Given the description of an element on the screen output the (x, y) to click on. 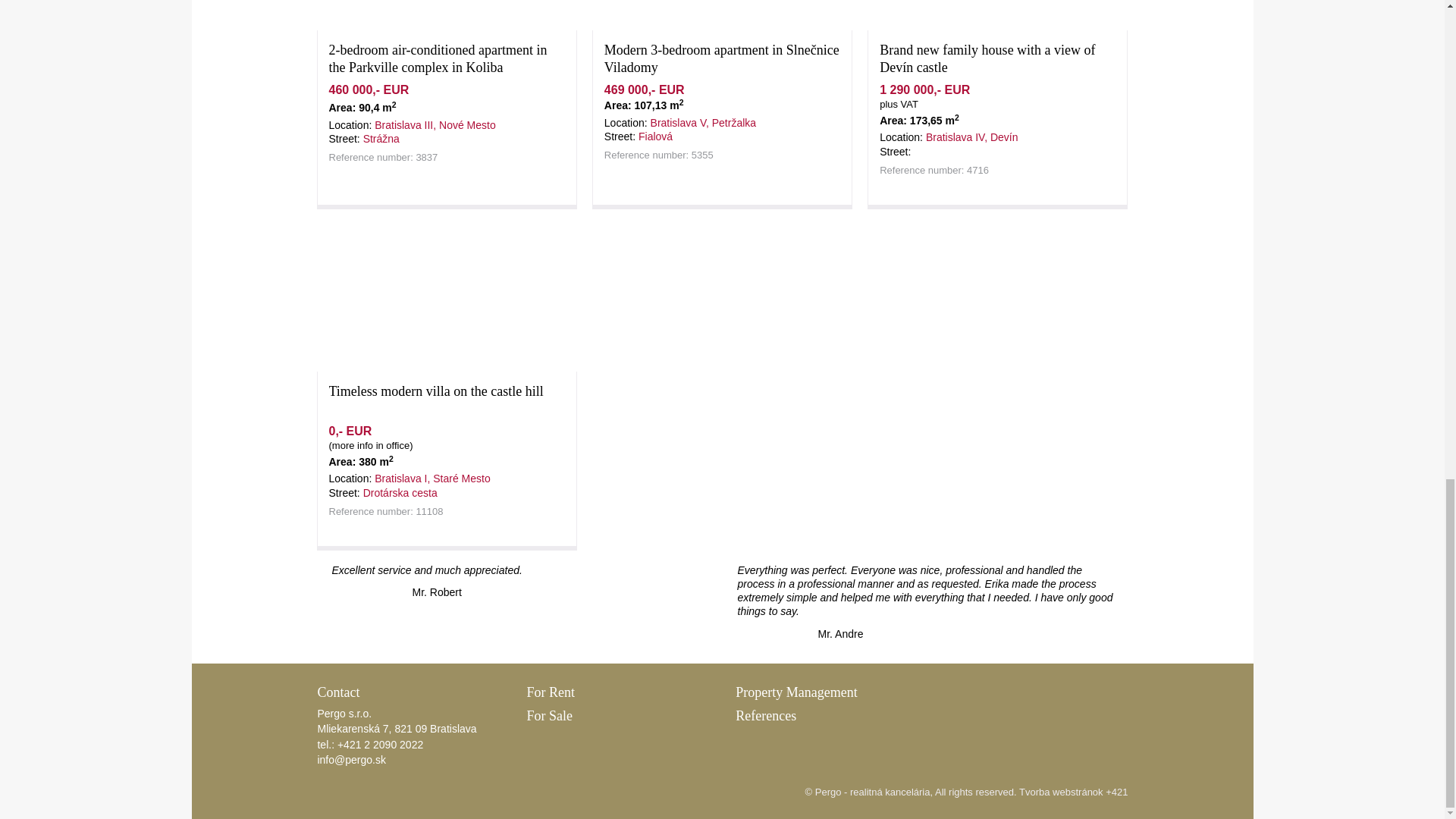
For Rent (550, 692)
Contact (338, 692)
Timeless modern villa on the castle hill (436, 391)
